Given the description of an element on the screen output the (x, y) to click on. 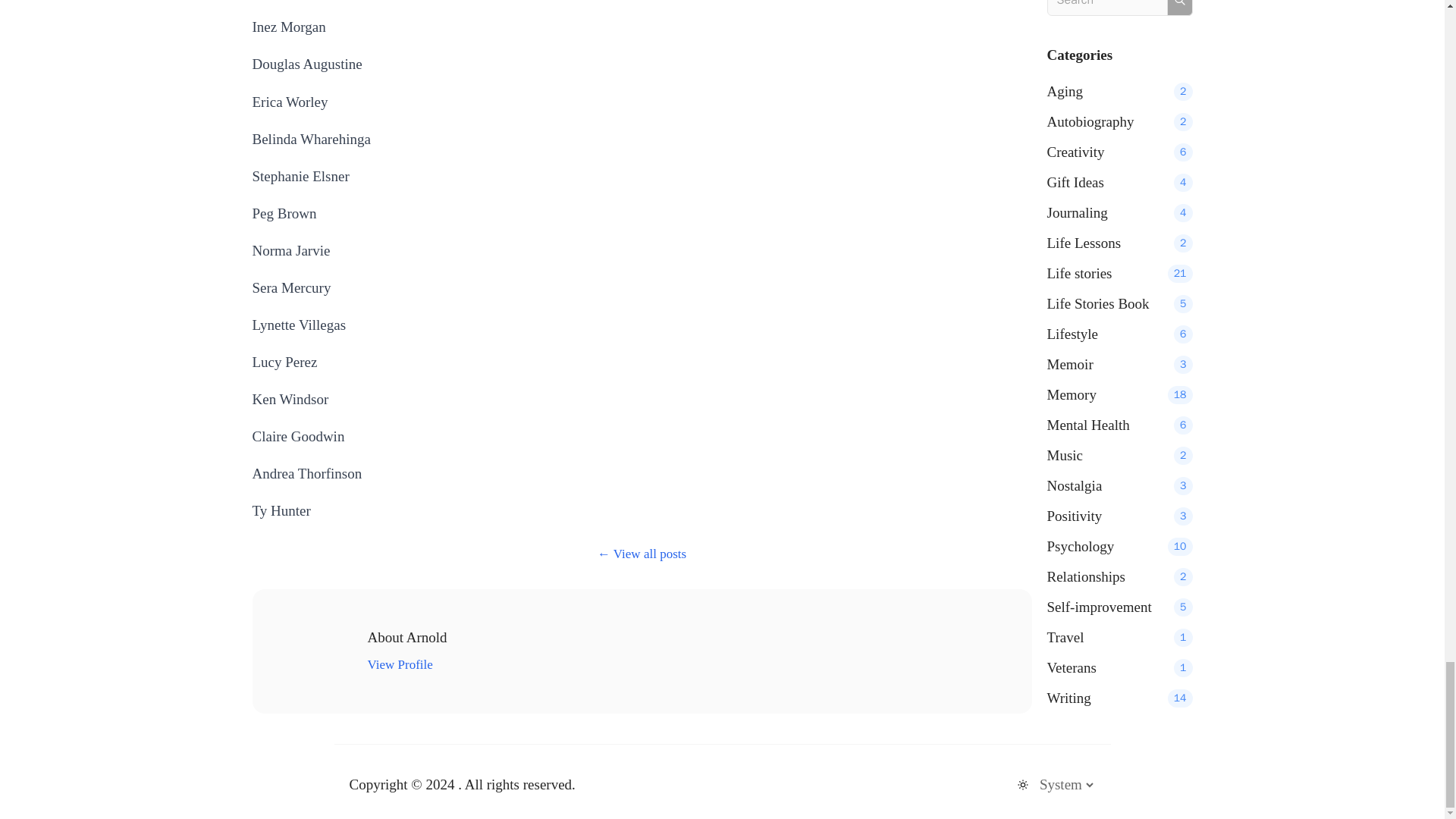
View Profile (399, 664)
